Given the description of an element on the screen output the (x, y) to click on. 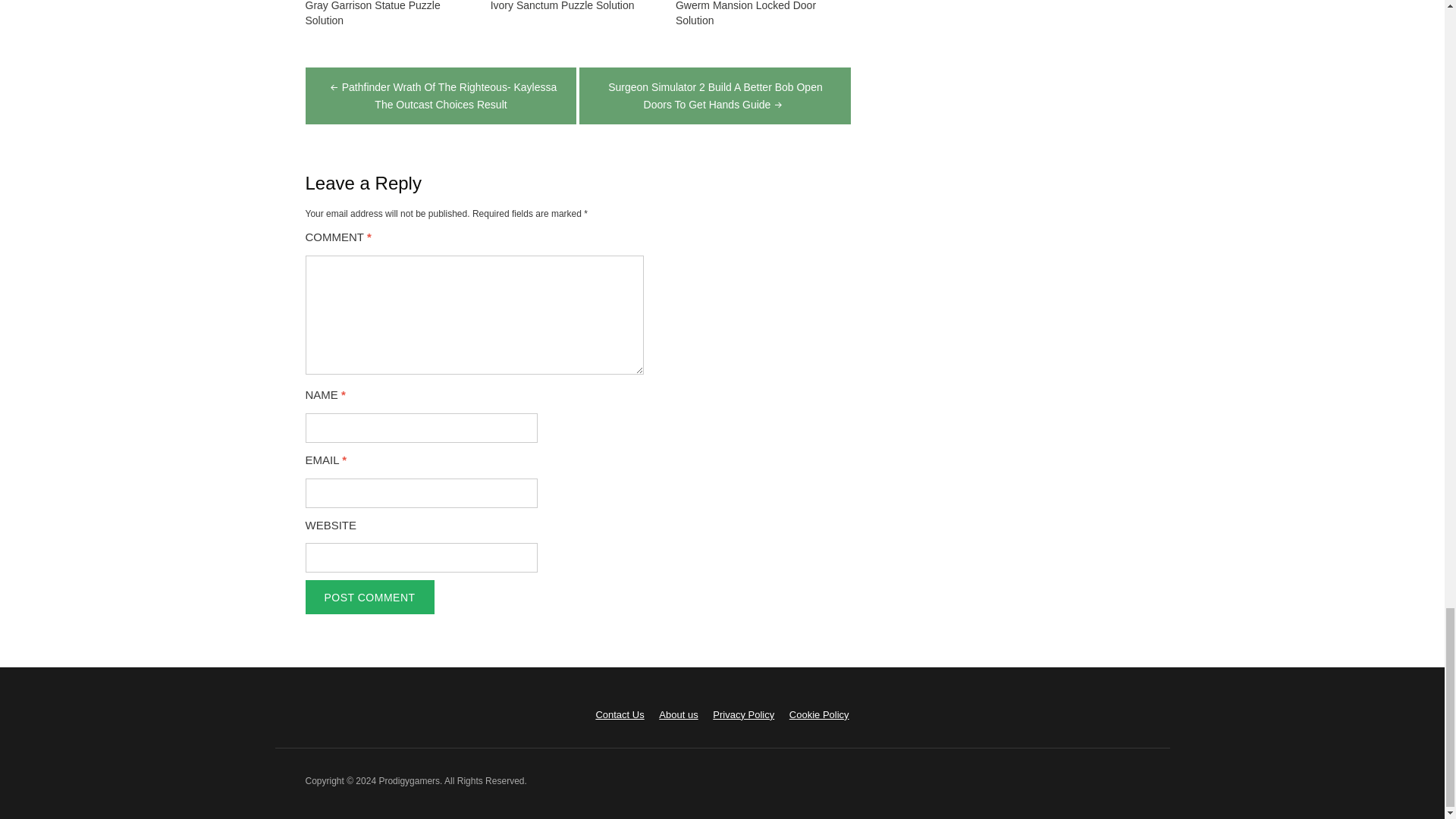
Post Comment (368, 596)
